Given the description of an element on the screen output the (x, y) to click on. 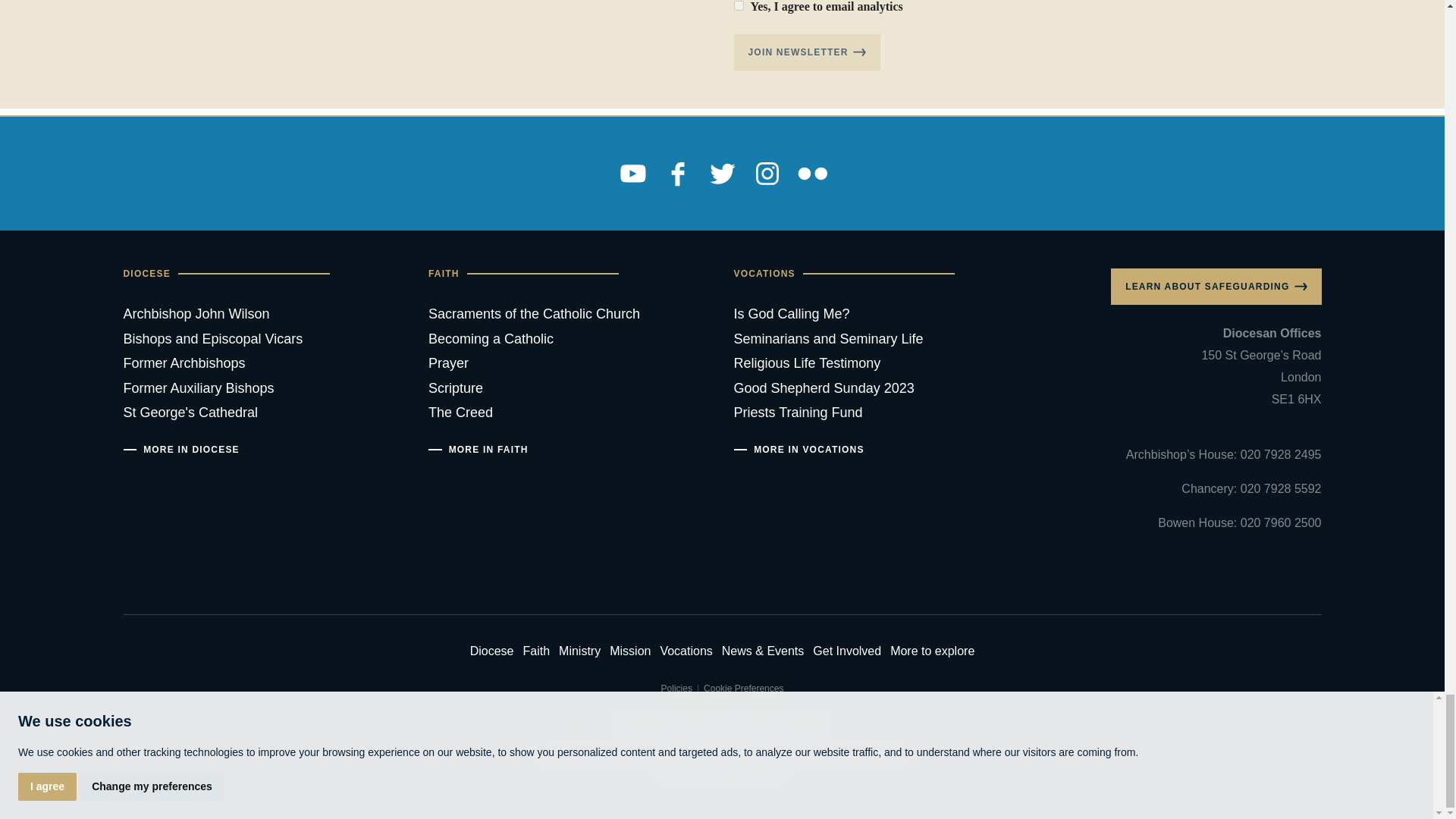
on (738, 5)
